Given the description of an element on the screen output the (x, y) to click on. 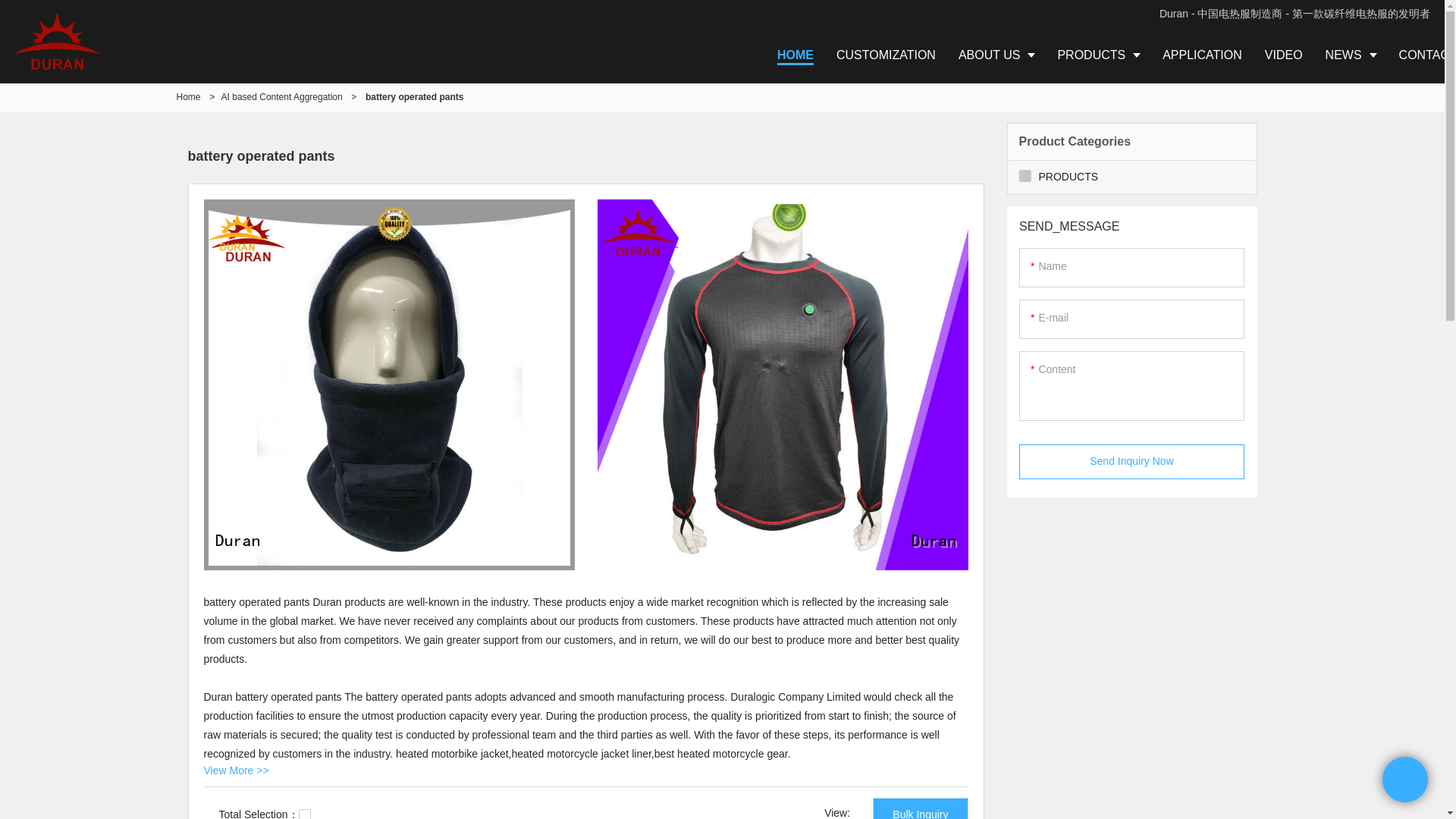
Home (188, 96)
NEWS (1350, 55)
CUSTOMIZATION (886, 55)
HOME (795, 55)
ABOUT US (996, 55)
PRODUCTS (1098, 55)
on (304, 814)
AI based Content Aggregation (281, 96)
VIDEO (1283, 55)
APPLICATION (1202, 55)
